Given the description of an element on the screen output the (x, y) to click on. 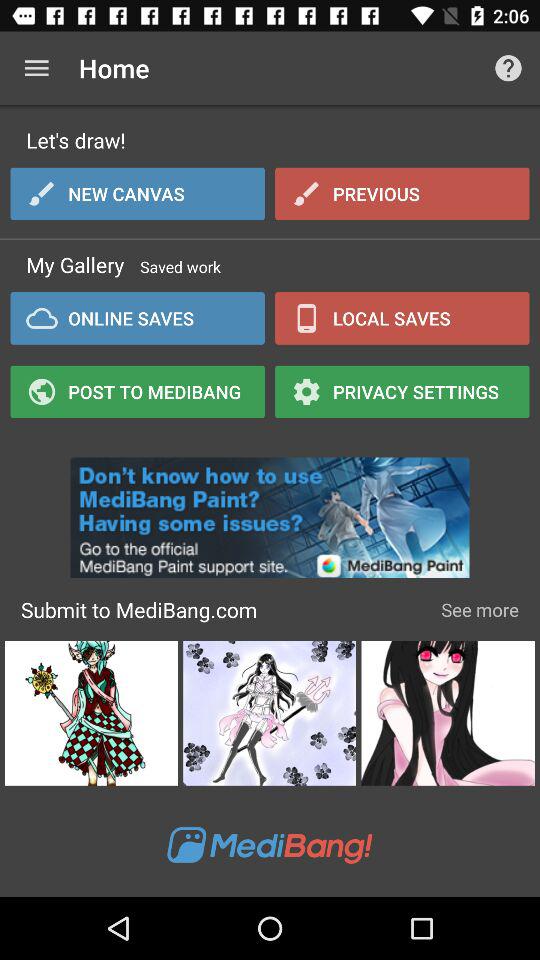
turn off local saves icon (402, 318)
